Given the description of an element on the screen output the (x, y) to click on. 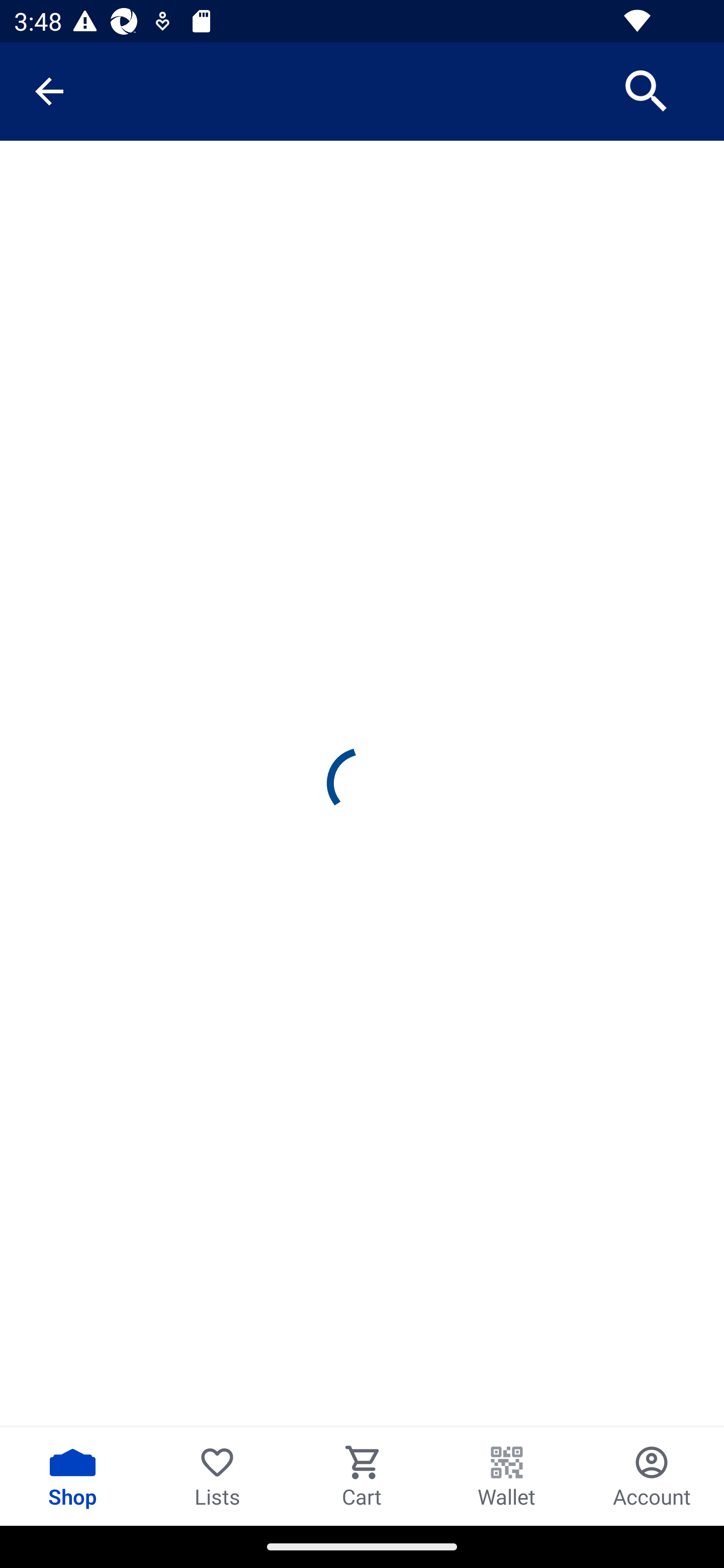
Navigate up (49, 91)
Search for products (646, 90)
Lists (216, 1475)
Cart (361, 1475)
Wallet (506, 1475)
Account (651, 1475)
